Given the description of an element on the screen output the (x, y) to click on. 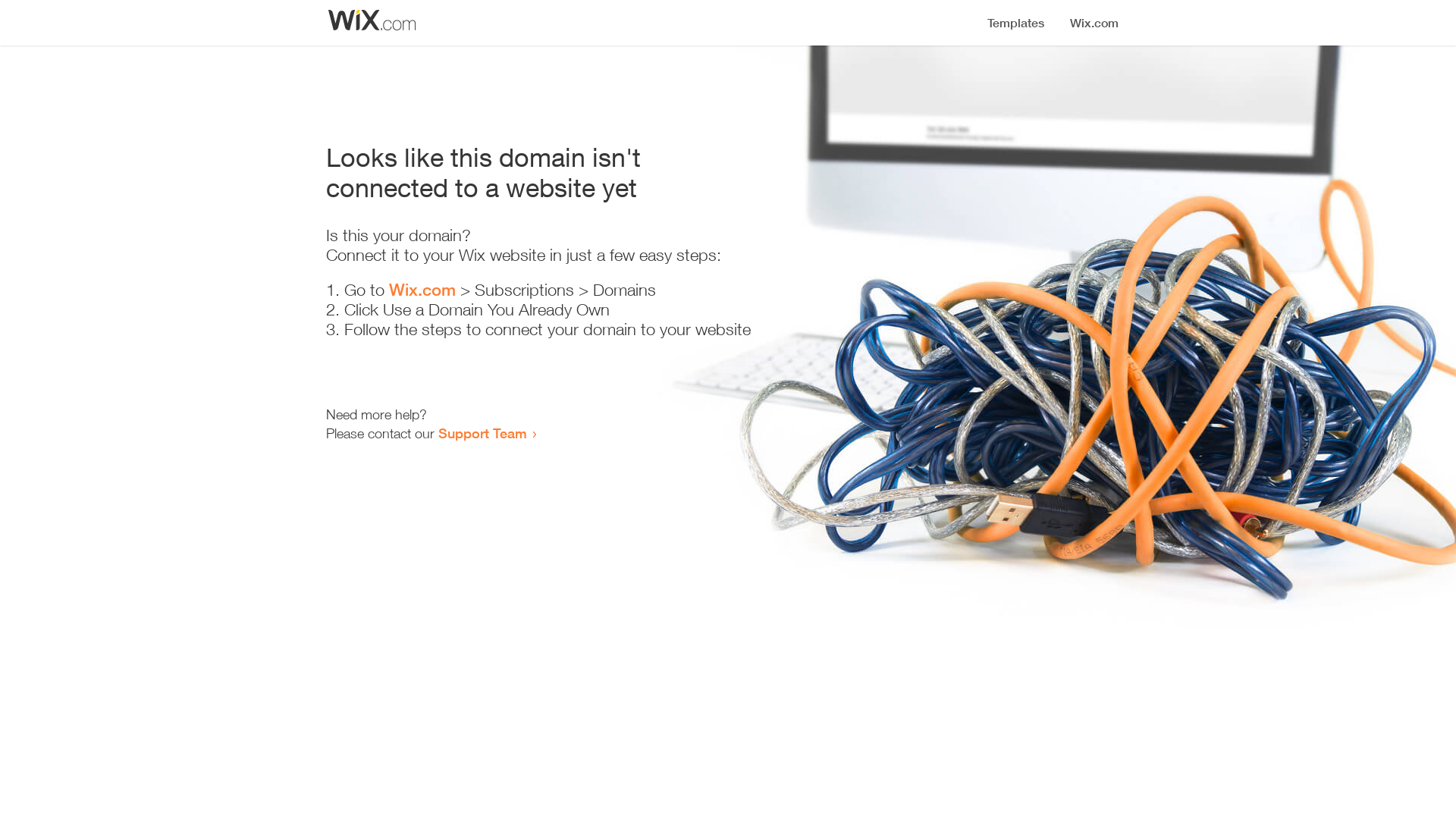
Support Team Element type: text (482, 432)
Wix.com Element type: text (422, 289)
